Given the description of an element on the screen output the (x, y) to click on. 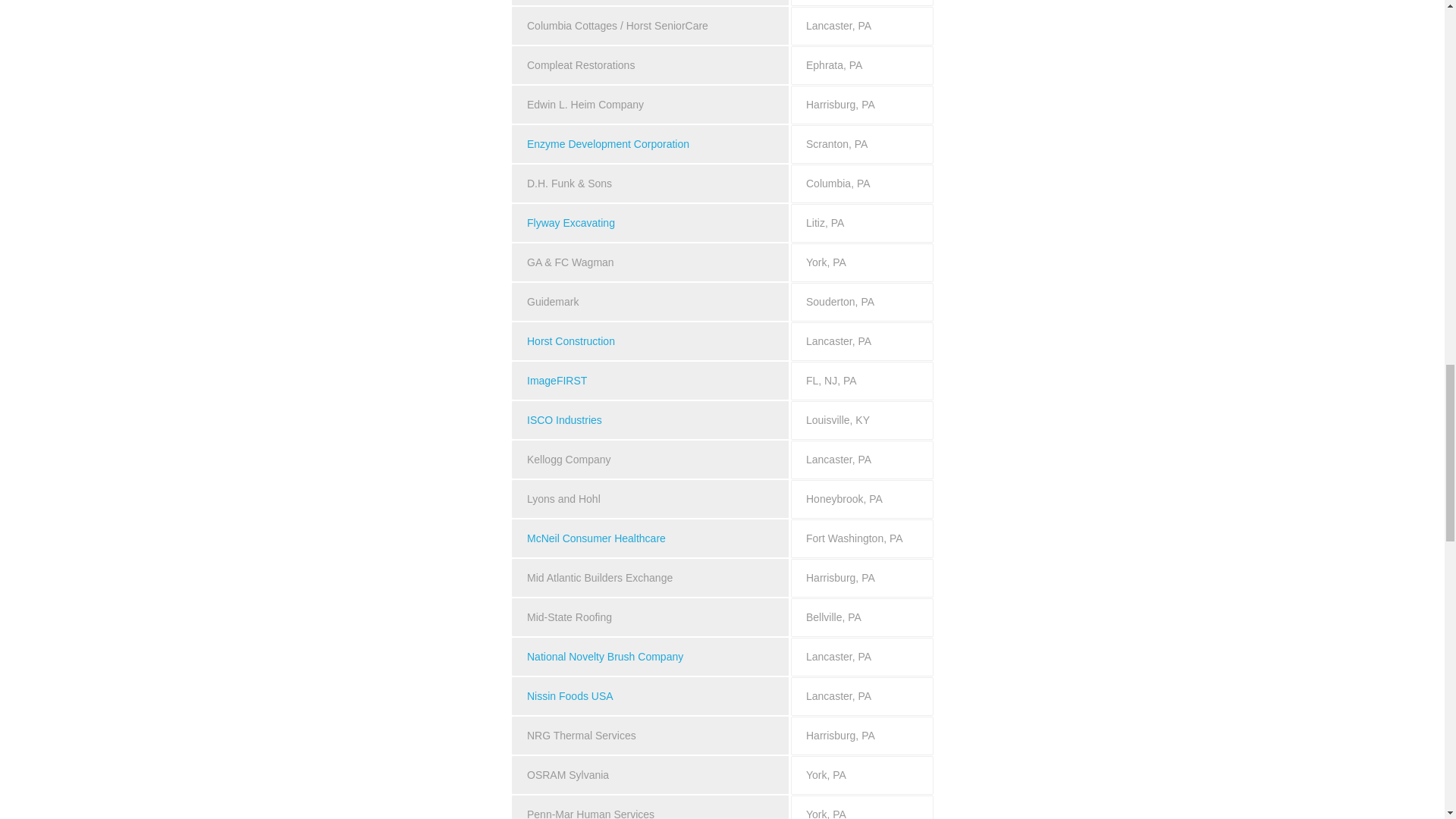
ISCO Industries (564, 419)
McNeil Consumer Healthcare (596, 538)
National Novelty Brush Company (604, 656)
Flyway Excavating (570, 223)
Enzyme Development Corporation (607, 143)
Nissin Foods USA (569, 695)
ImageFIRST (556, 380)
Horst Construction (570, 340)
